Given the description of an element on the screen output the (x, y) to click on. 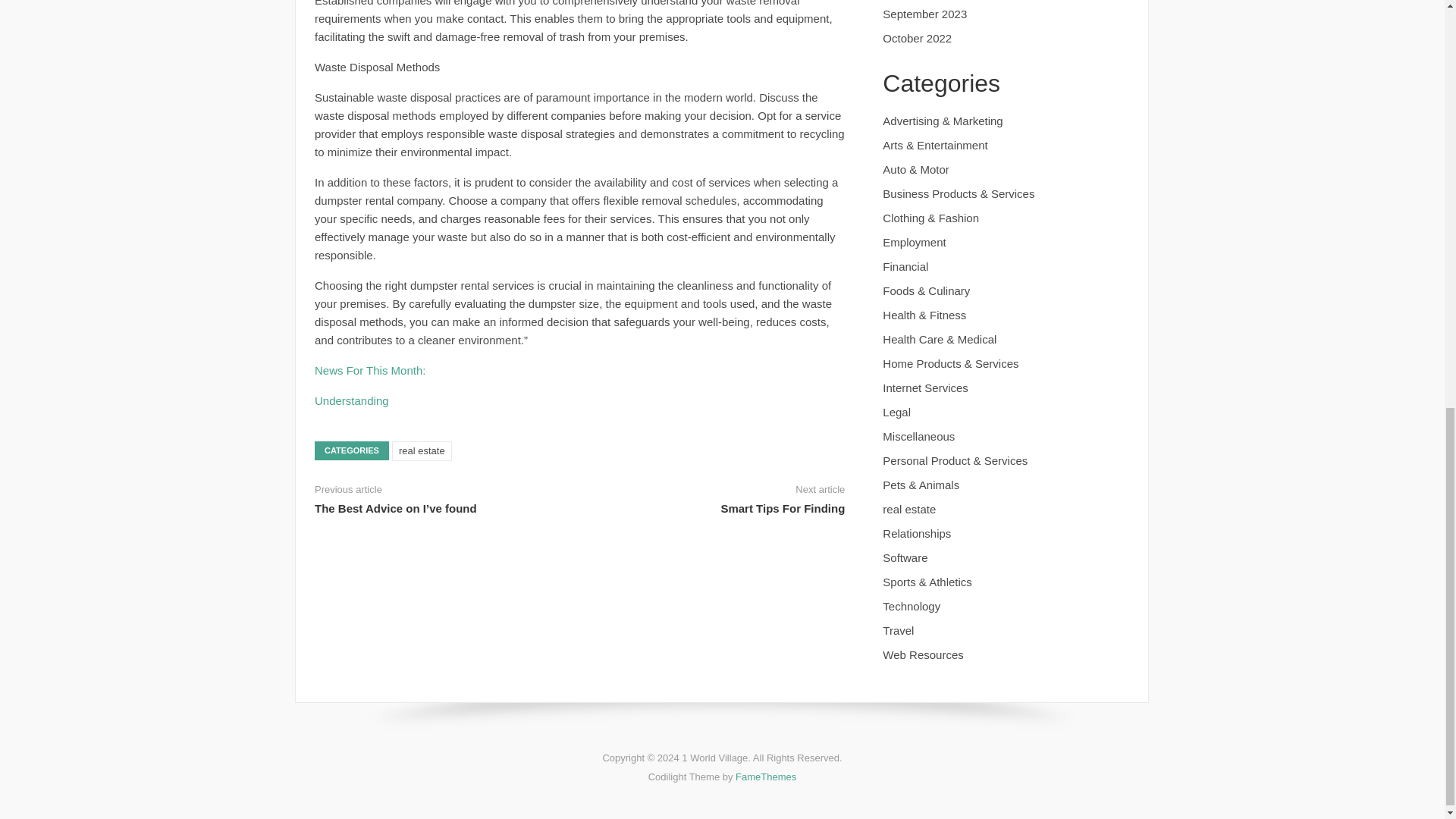
Employment (913, 241)
Understanding (351, 400)
October 2022 (917, 38)
Smart Tips For Finding (782, 508)
Financial (905, 266)
News For This Month: (369, 369)
real estate (421, 451)
September 2023 (924, 13)
